Given the description of an element on the screen output the (x, y) to click on. 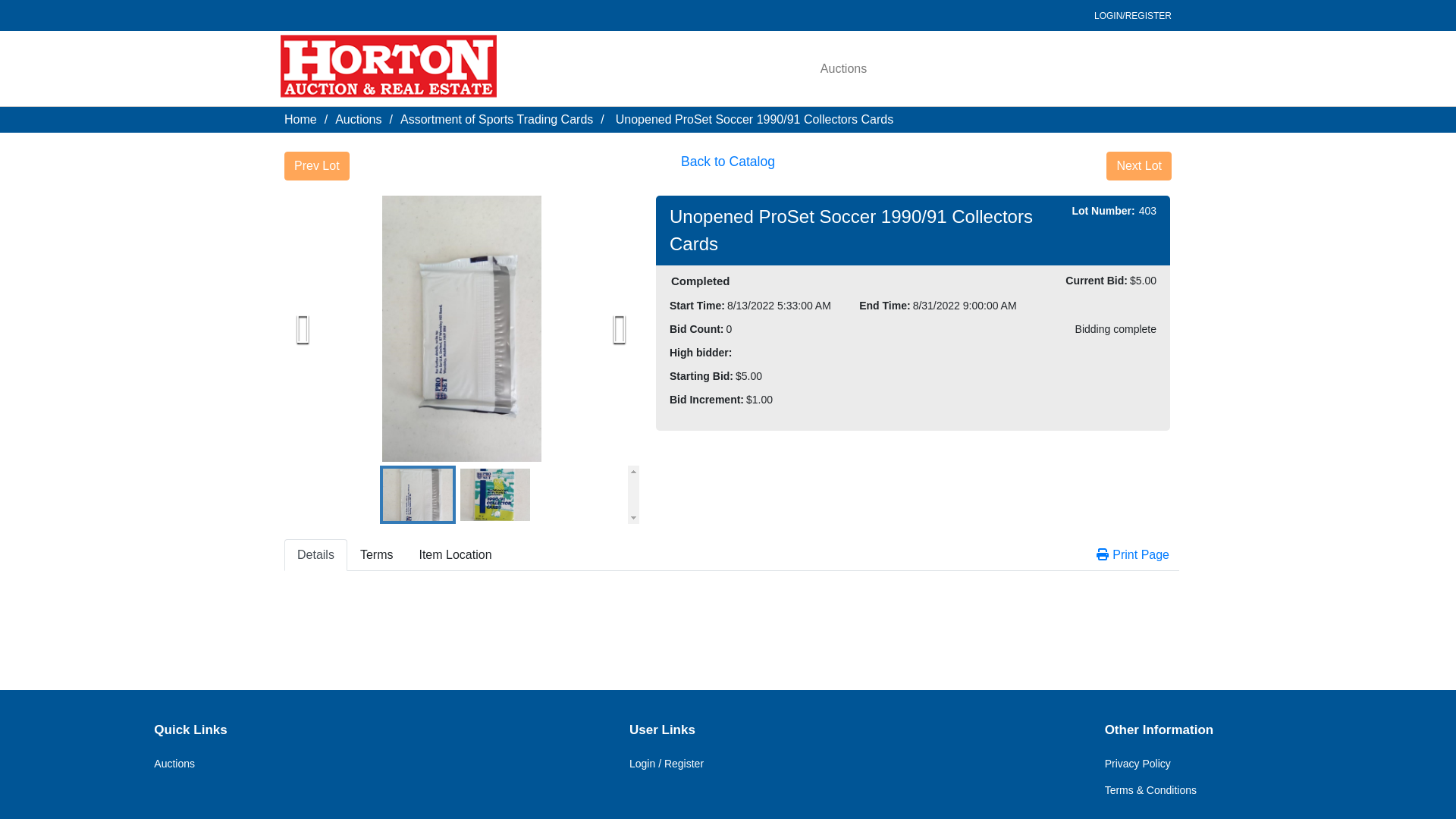
Next Lot (1139, 165)
View the previous lot (316, 165)
Prev Lot (316, 165)
Auctions (357, 119)
Terms (376, 554)
Print Page (1132, 553)
Home (300, 119)
View the next lot (1139, 165)
Assortment of Sports Trading Cards (496, 119)
Auctions (843, 68)
Auctions (174, 764)
Back to Catalog (727, 165)
Item Location (454, 554)
Go to homepage (388, 67)
Details (315, 554)
